Given the description of an element on the screen output the (x, y) to click on. 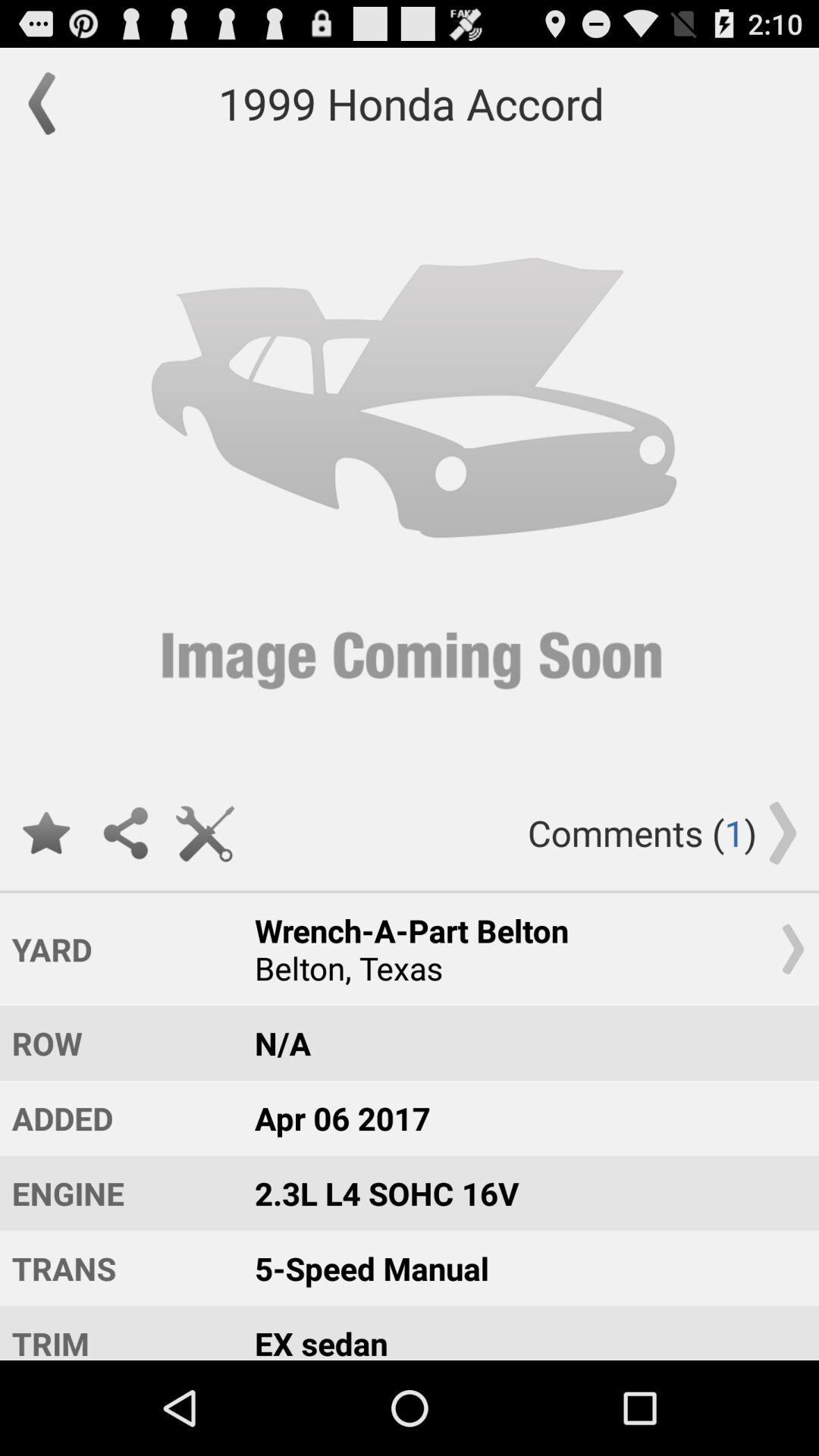
go to previous (49, 103)
